Given the description of an element on the screen output the (x, y) to click on. 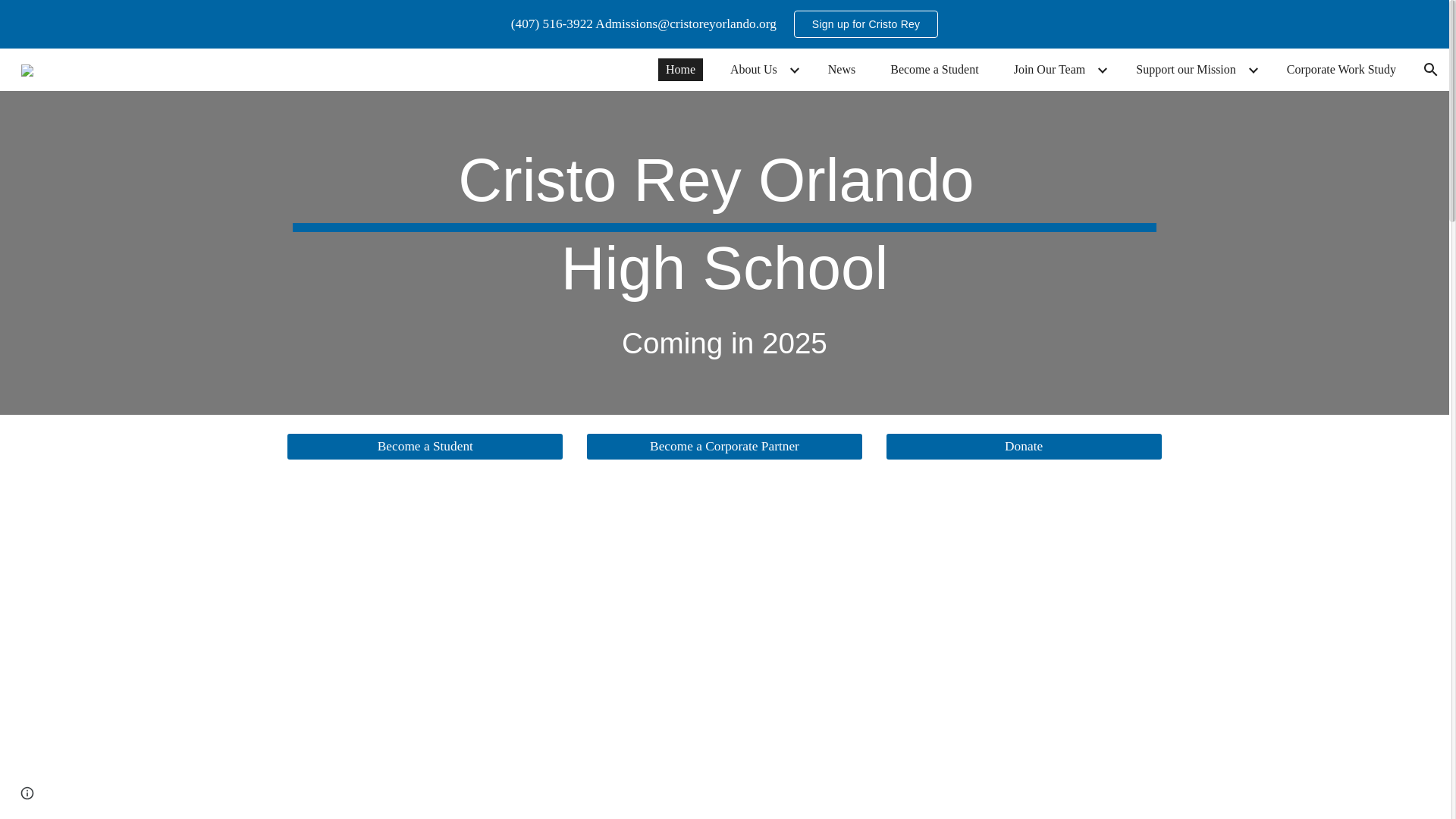
Sign up for Cristo Rey (865, 23)
Support our Mission (1185, 69)
Home (680, 69)
News (842, 69)
Join Our Team (1049, 69)
Corporate Work Study (1341, 69)
About Us (753, 69)
Become a Student (933, 69)
Sign up for Cristo Rey (865, 23)
